Given the description of an element on the screen output the (x, y) to click on. 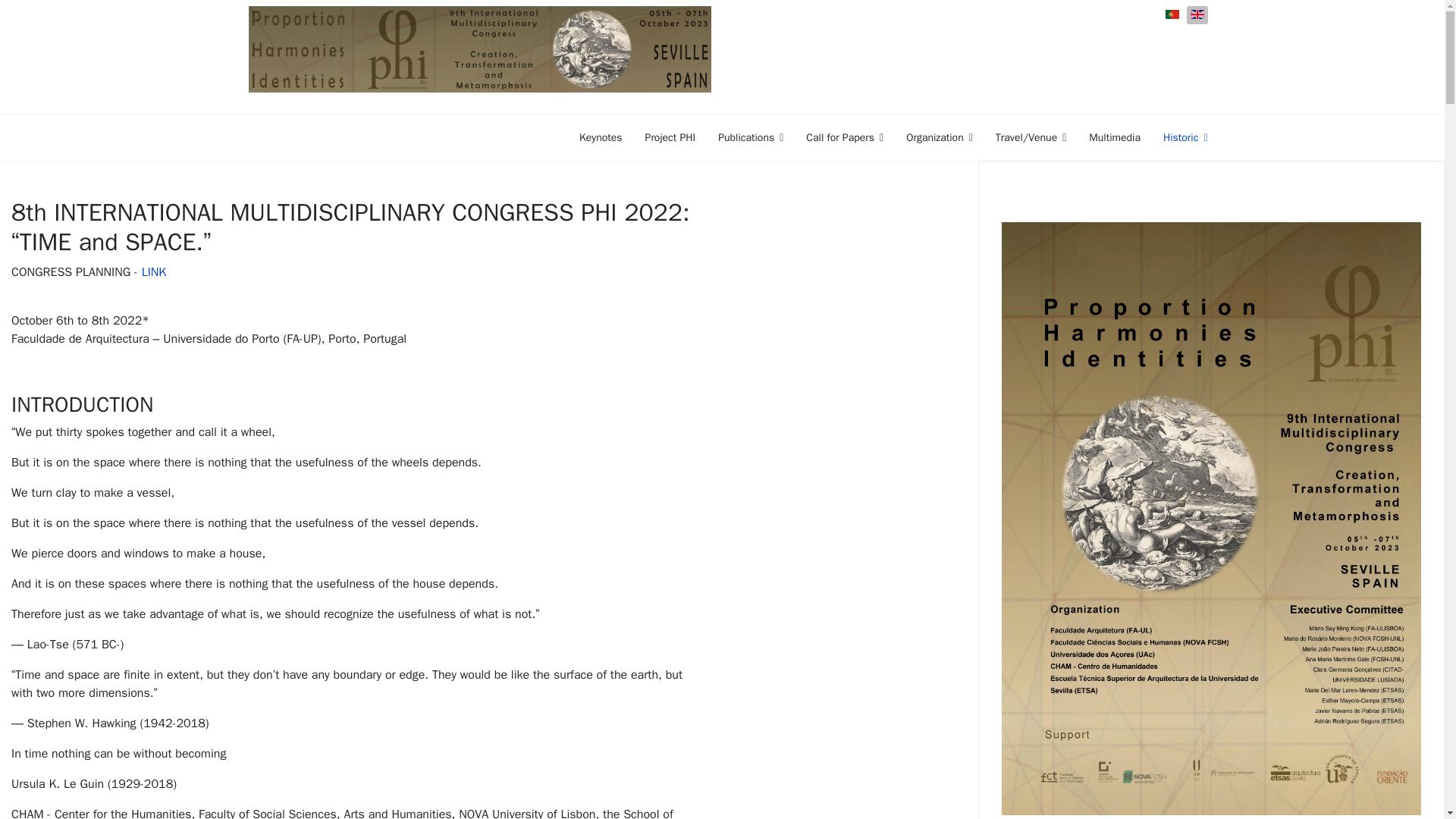
Project PHI (670, 137)
Organization (939, 137)
LINK (154, 272)
Multimedia (1114, 137)
Publications (750, 137)
Call for Papers (844, 137)
Keynotes (600, 137)
Historic (1179, 137)
